Given the description of an element on the screen output the (x, y) to click on. 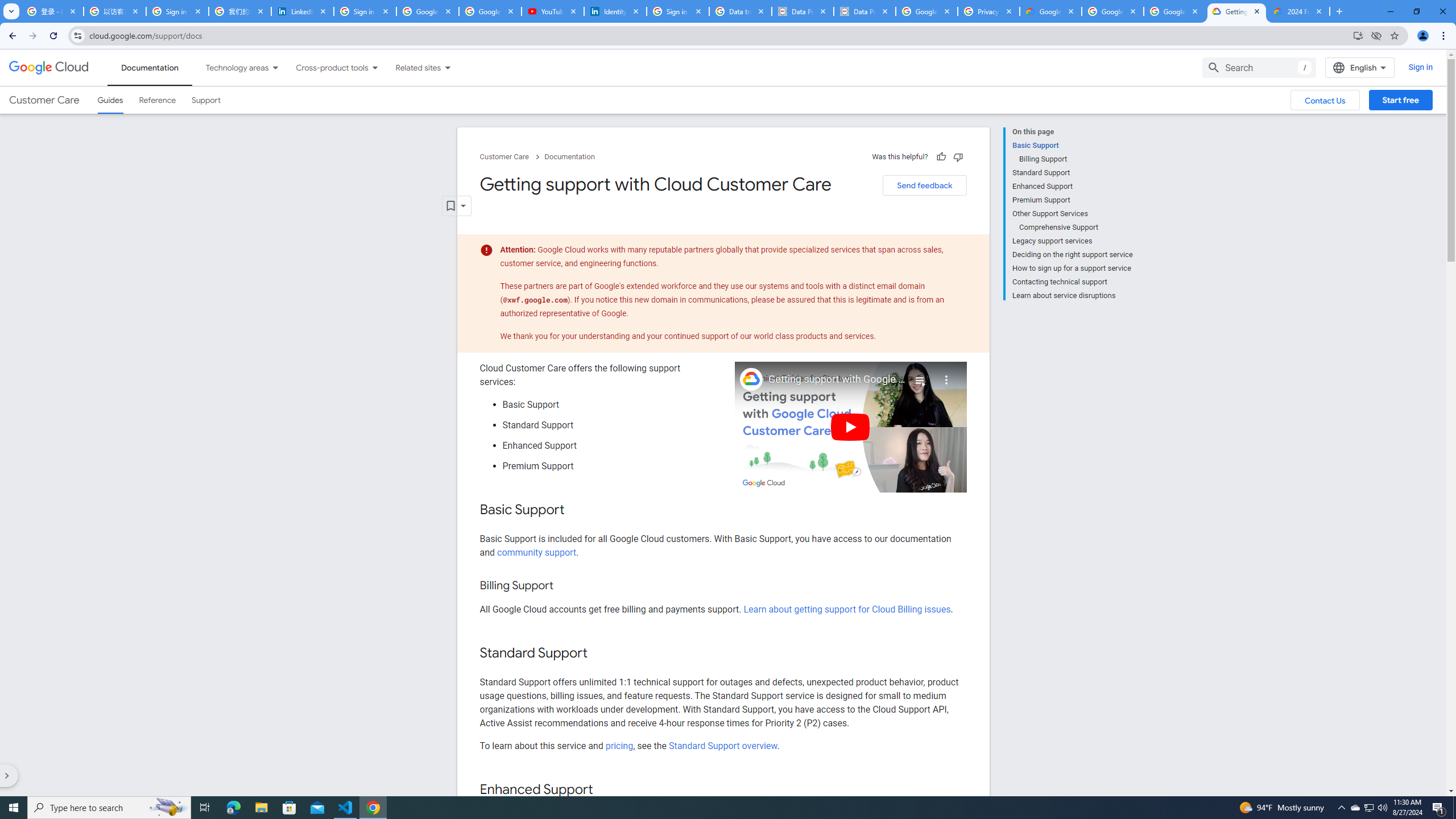
Copy link to this section: Basic Support (576, 510)
Photo image of Google Cloud Tech (750, 378)
Sign in - Google Accounts (678, 11)
Comprehensive Support (1075, 227)
Start free (1400, 100)
Technology areas (230, 67)
Google Cloud (48, 67)
pricing (619, 745)
Legacy support services (1071, 241)
